Given the description of an element on the screen output the (x, y) to click on. 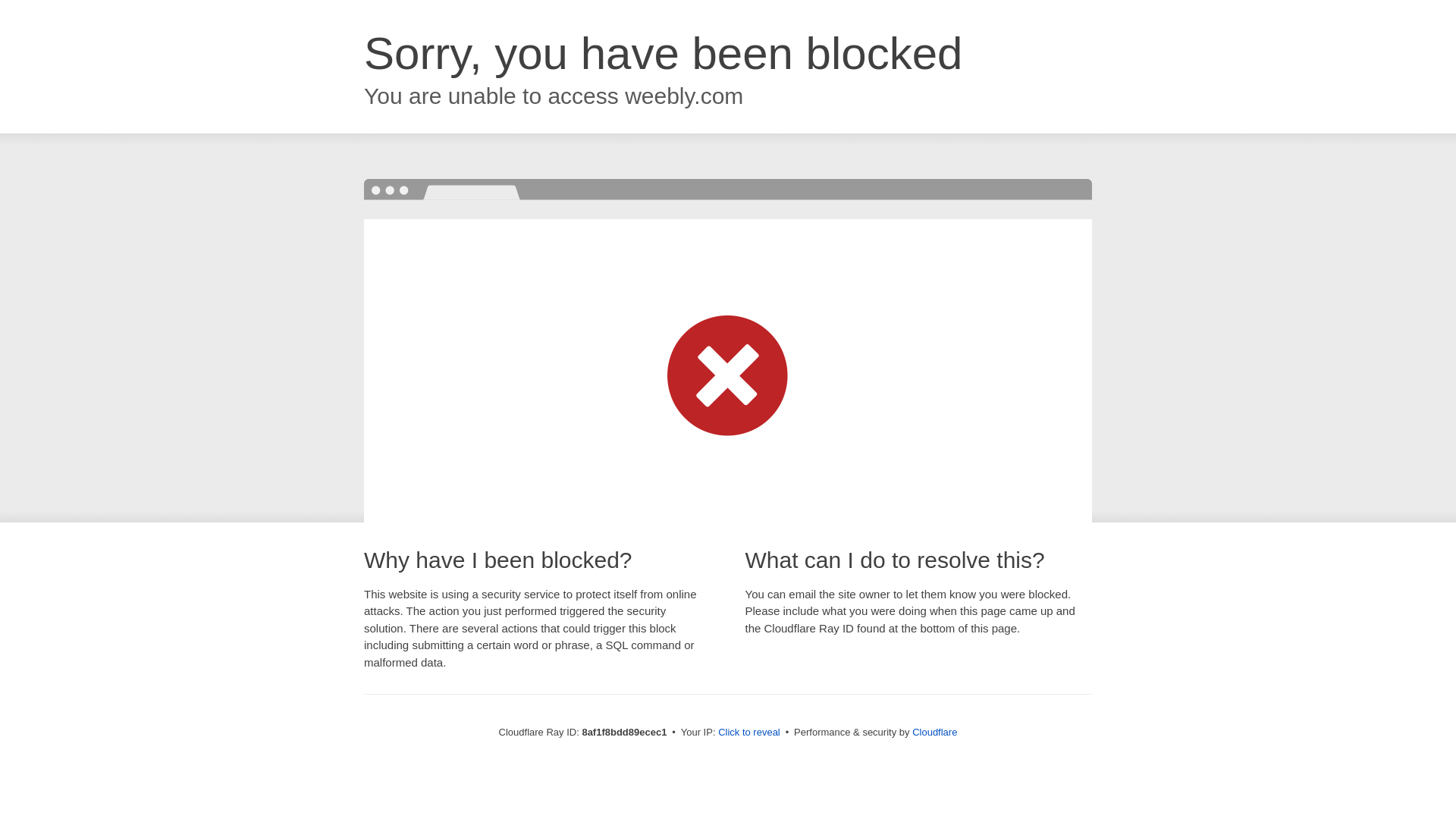
Cloudflare (934, 731)
Click to reveal (748, 732)
